Given the description of an element on the screen output the (x, y) to click on. 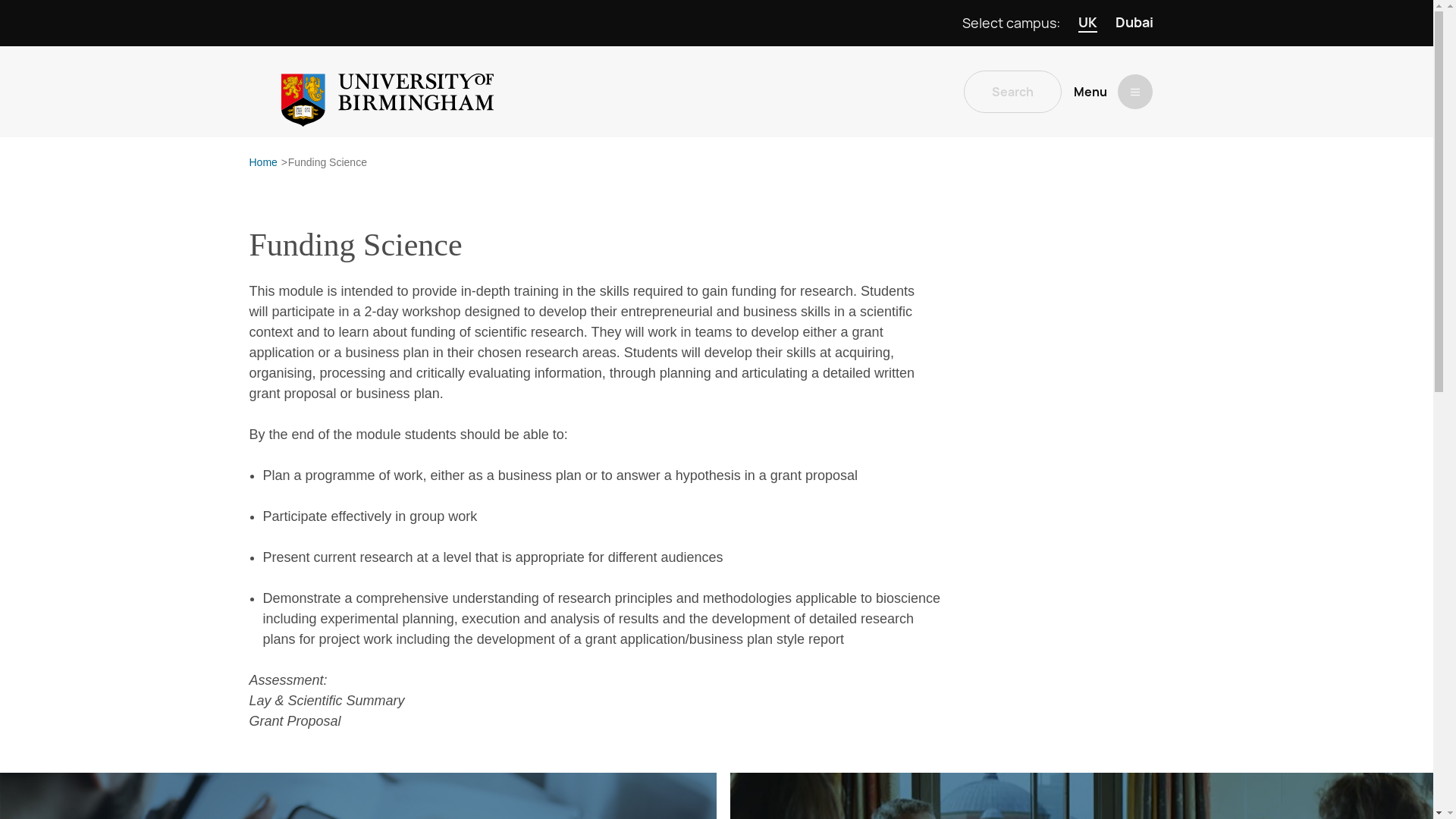
Funding Science (327, 162)
Dubai (1134, 23)
UK (1087, 23)
Home (262, 162)
Search (1012, 91)
